Given the description of an element on the screen output the (x, y) to click on. 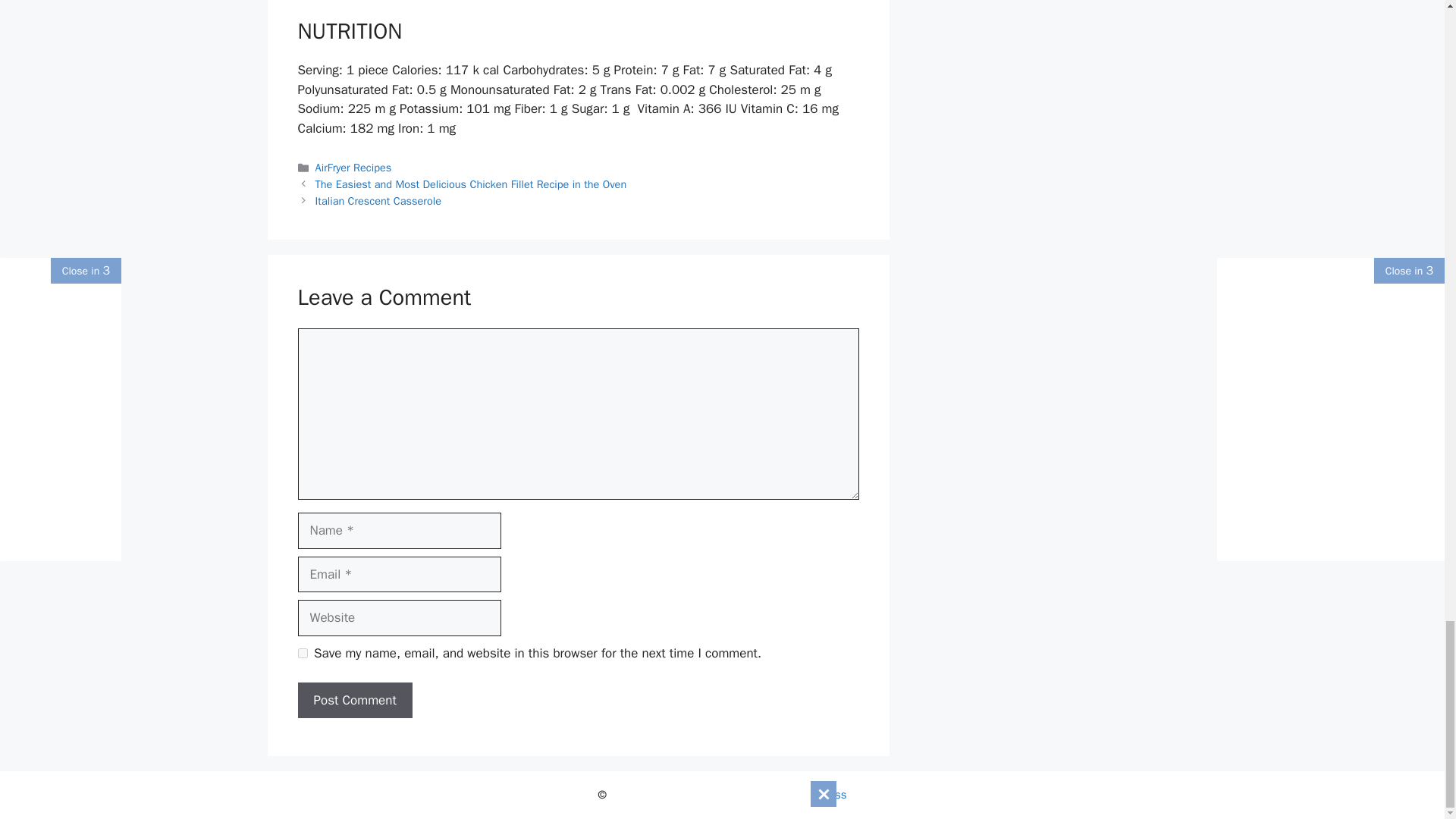
Post Comment (354, 700)
AirFryer Recipes (353, 167)
Italian Crescent Casserole (378, 201)
yes (302, 653)
Post Comment (354, 700)
